Given the description of an element on the screen output the (x, y) to click on. 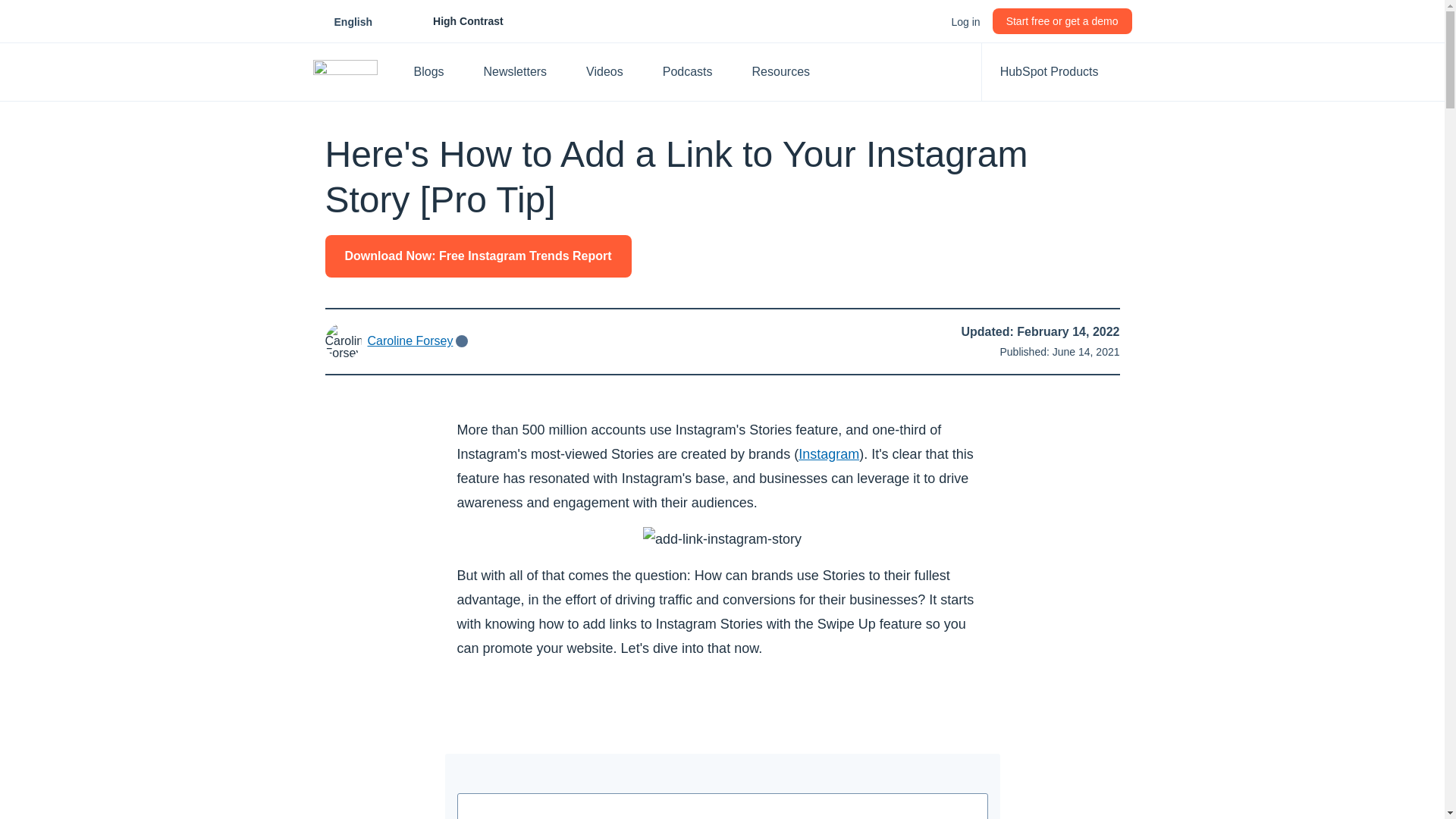
Log in (964, 21)
High Contrast (450, 21)
Videos (611, 71)
Blogs (436, 71)
Start free or get a demo (1062, 21)
Newsletters (523, 71)
